Given the description of an element on the screen output the (x, y) to click on. 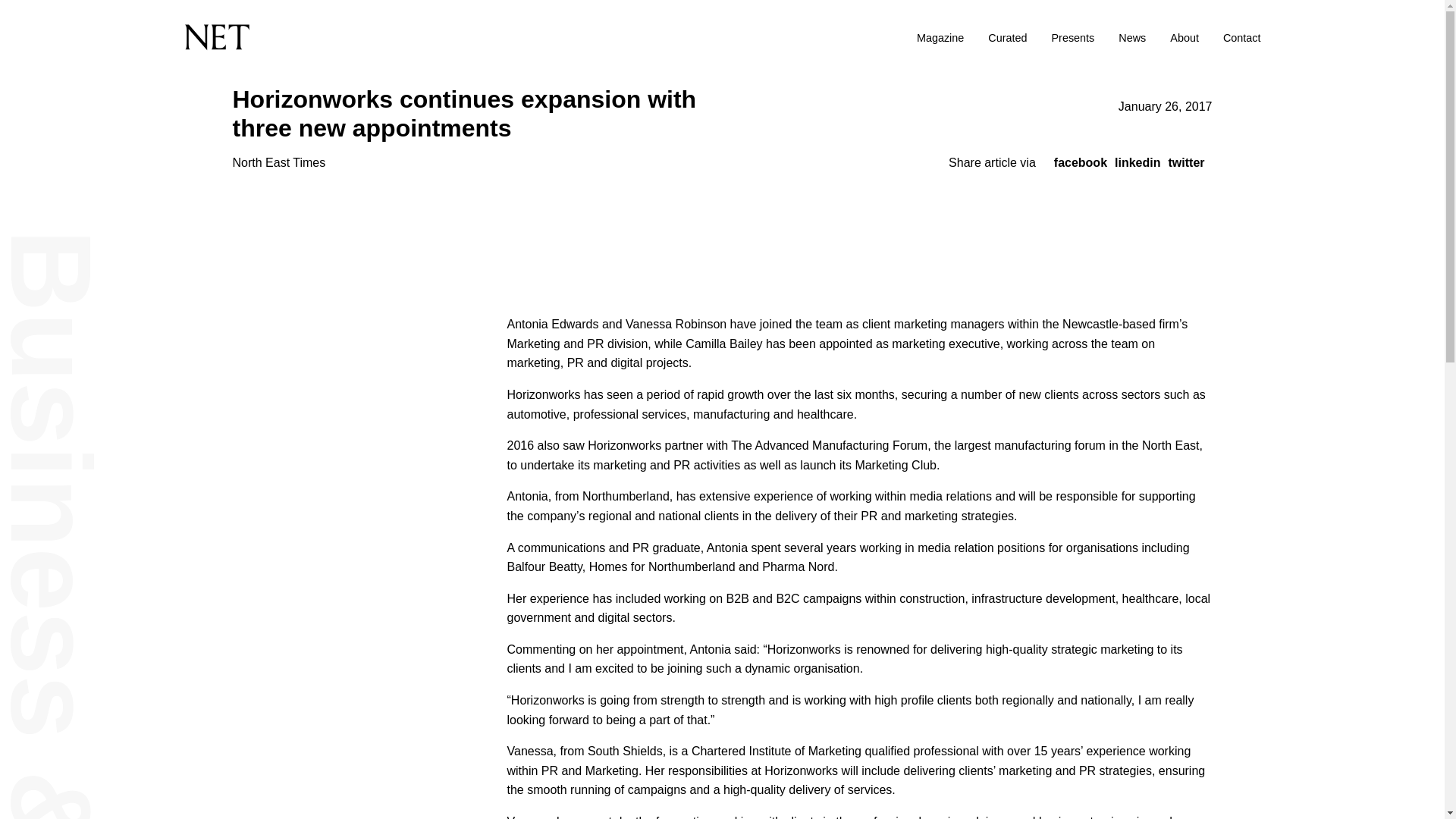
Share via Twitter (1185, 162)
Share via LinkedIn (1137, 162)
linkedin (1137, 162)
twitter (1185, 162)
Magazine (940, 37)
facebook (1080, 162)
News (1131, 37)
Share via Facebook (1080, 162)
Presents (1072, 37)
Return to the homepage (383, 37)
